Given the description of an element on the screen output the (x, y) to click on. 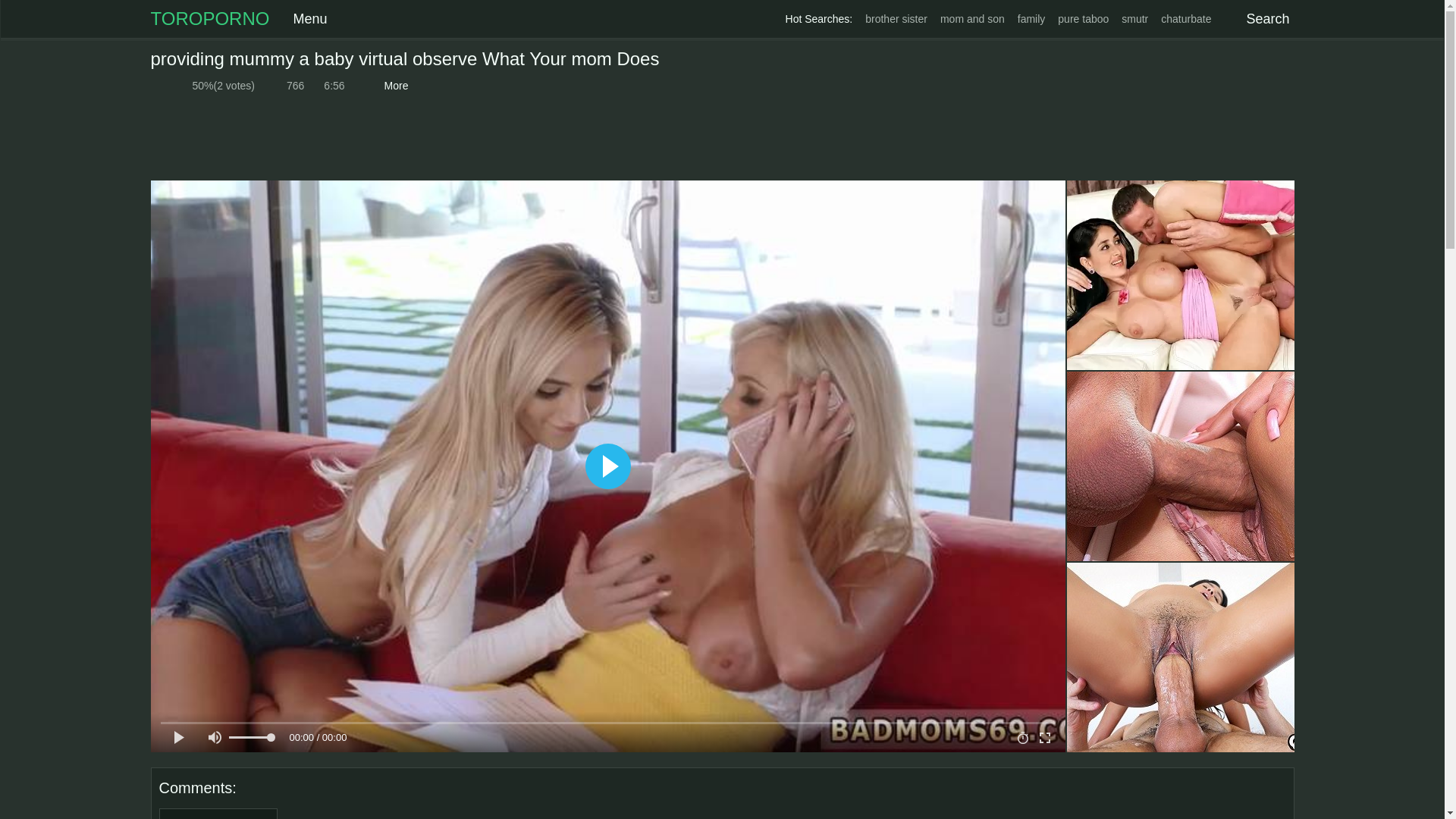
TOROPORNO (209, 18)
brother sister (896, 19)
Show More (393, 85)
chaturbate (1185, 19)
family (1031, 19)
smutr (1134, 19)
pure taboo (1083, 19)
mom and son (972, 19)
